Given the description of an element on the screen output the (x, y) to click on. 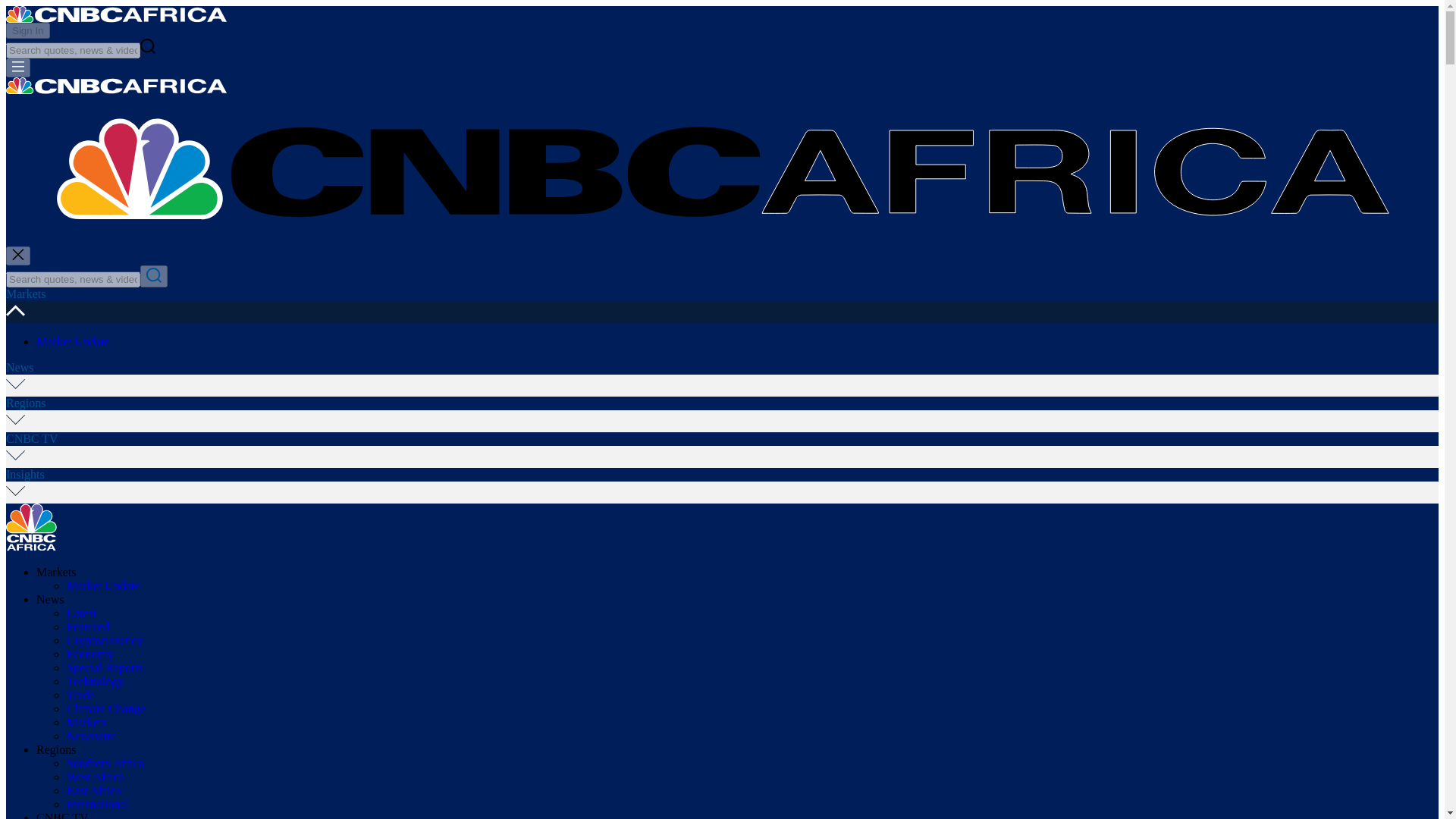
Market Update (72, 341)
Climate Change (105, 707)
Markets (25, 293)
West Africa (94, 776)
Open menu (17, 67)
Cryptocurrency (104, 640)
Regions (25, 402)
Newswire (91, 735)
Special Reports (104, 667)
Open menu (17, 66)
Latest (81, 612)
Markets (86, 721)
Regions (55, 748)
Economy (89, 653)
Sign In (27, 30)
